Given the description of an element on the screen output the (x, y) to click on. 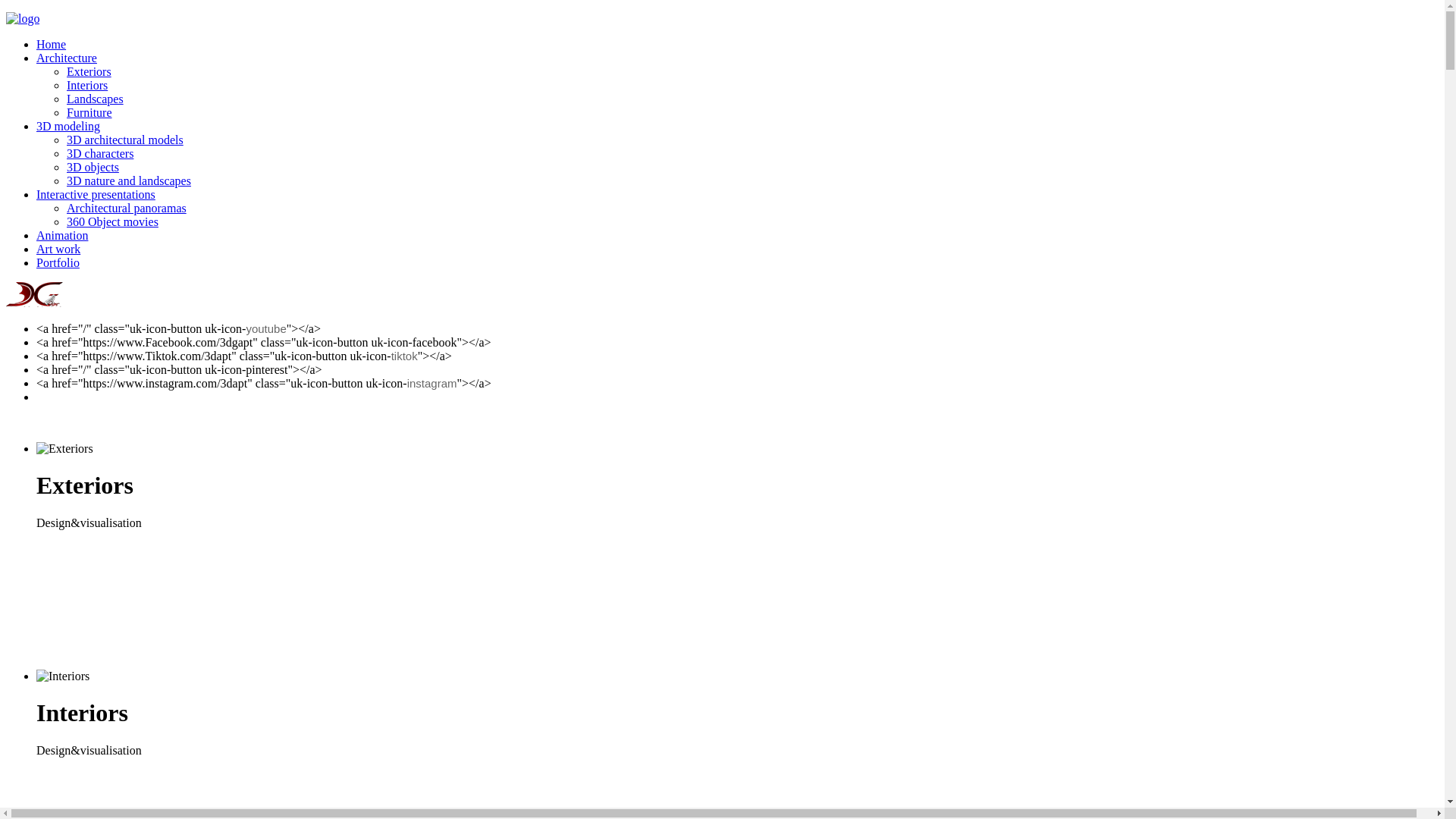
Exteriors Element type: text (88, 71)
Portfolio Element type: text (57, 262)
Interactive presentations Element type: text (95, 194)
3D objects Element type: text (92, 166)
3D characters Element type: text (99, 153)
3D architectural models Element type: text (124, 139)
Architecture Element type: text (66, 57)
Furniture Element type: text (89, 112)
Animation Element type: text (61, 235)
3D modeling Element type: text (68, 125)
360 Object movies Element type: text (112, 221)
3D nature and landscapes Element type: text (128, 180)
Art work Element type: text (58, 248)
Home Element type: text (50, 43)
Interiors Element type: text (86, 84)
Architectural panoramas Element type: text (126, 207)
Landscapes Element type: text (94, 98)
